Given the description of an element on the screen output the (x, y) to click on. 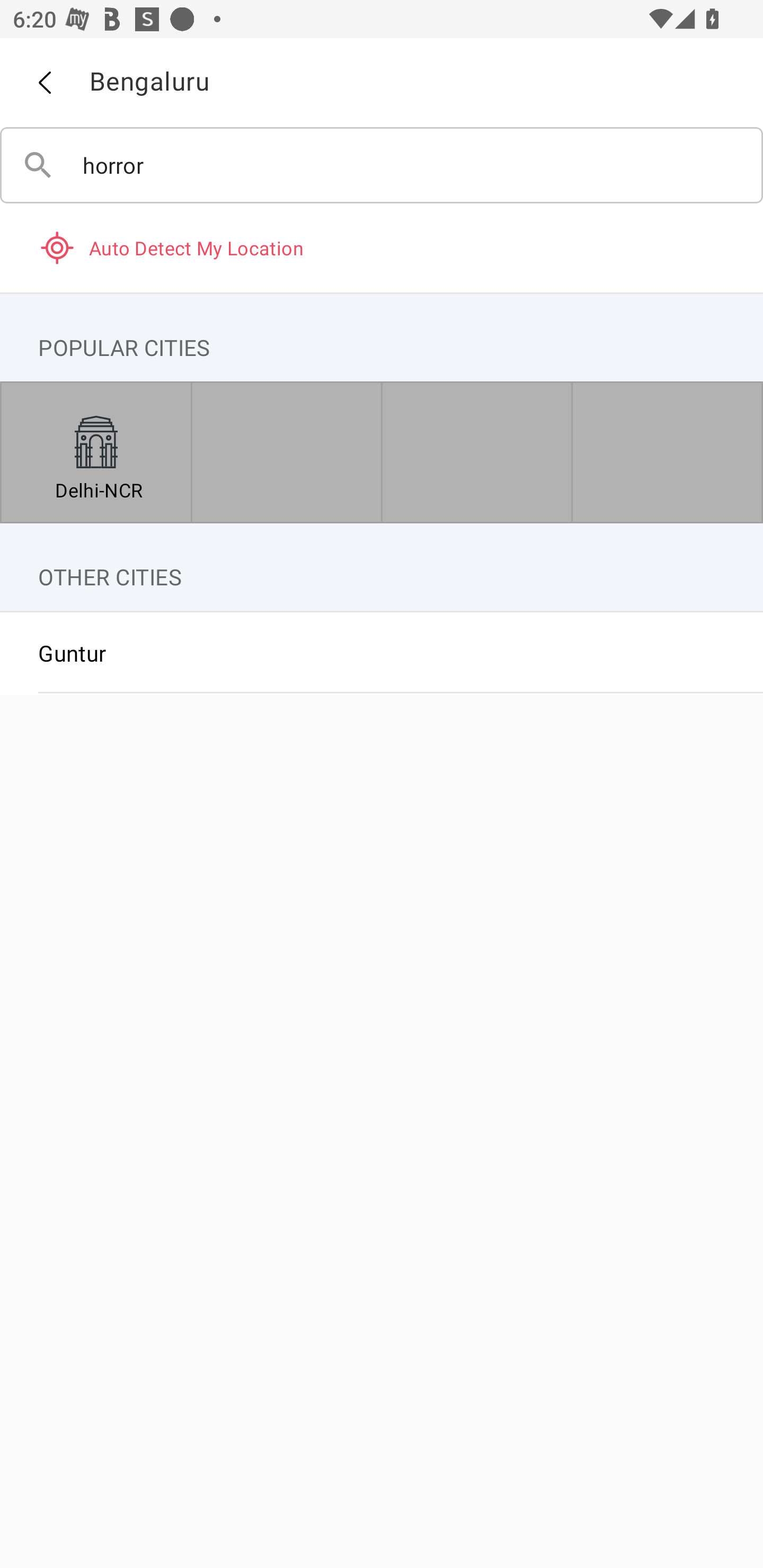
Back (44, 82)
horror (381, 165)
Auto Detect My Location (381, 247)
Delhi-NCR (95, 452)
Guntur (381, 653)
